Given the description of an element on the screen output the (x, y) to click on. 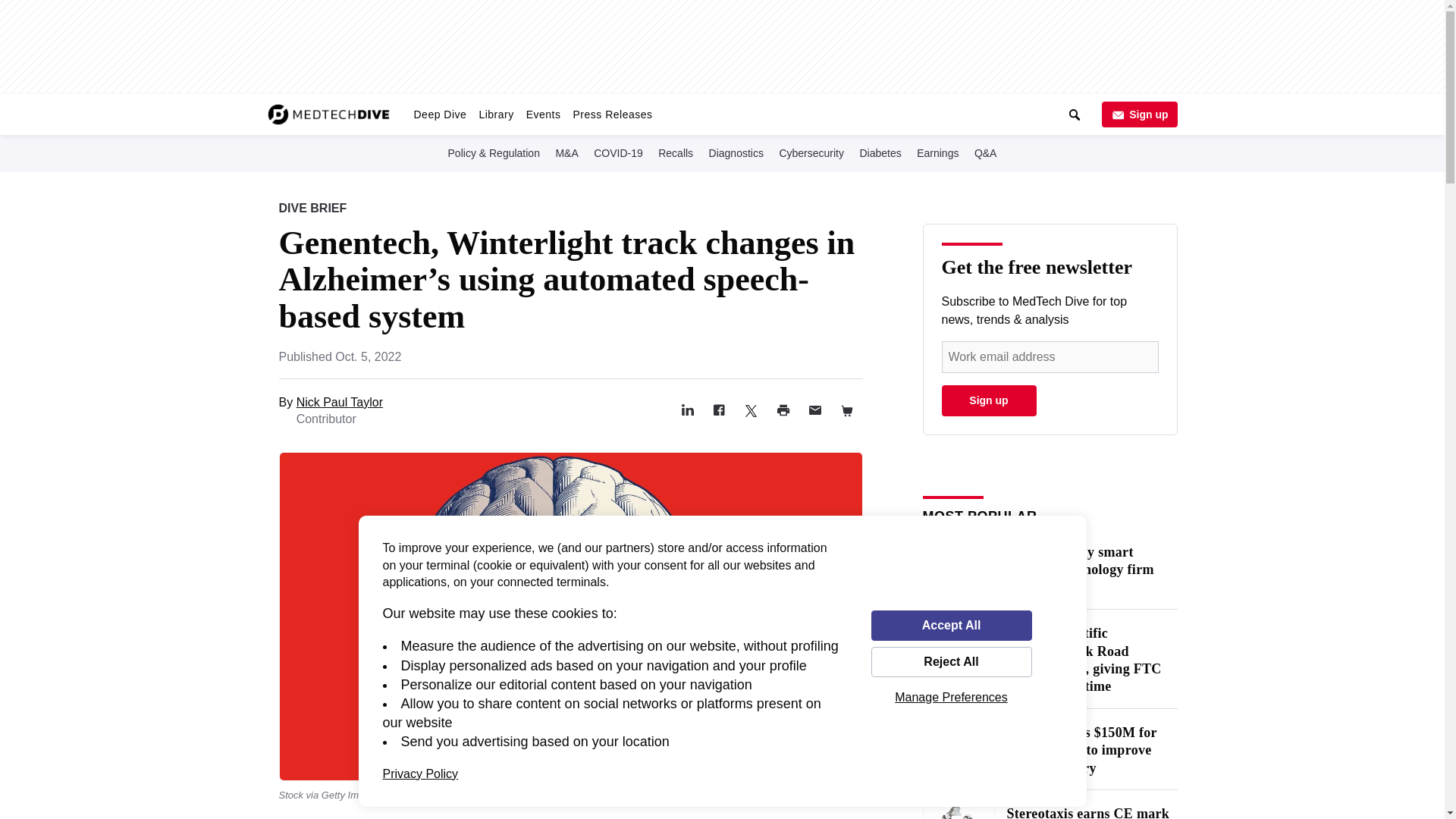
Press Releases (612, 114)
Events (543, 114)
Accept All (950, 625)
Sign up (1138, 114)
Manage Preferences (950, 697)
Deep Dive (440, 114)
COVID-19 (618, 152)
Cybersecurity (811, 152)
Reject All (950, 662)
Library (495, 114)
